Given the description of an element on the screen output the (x, y) to click on. 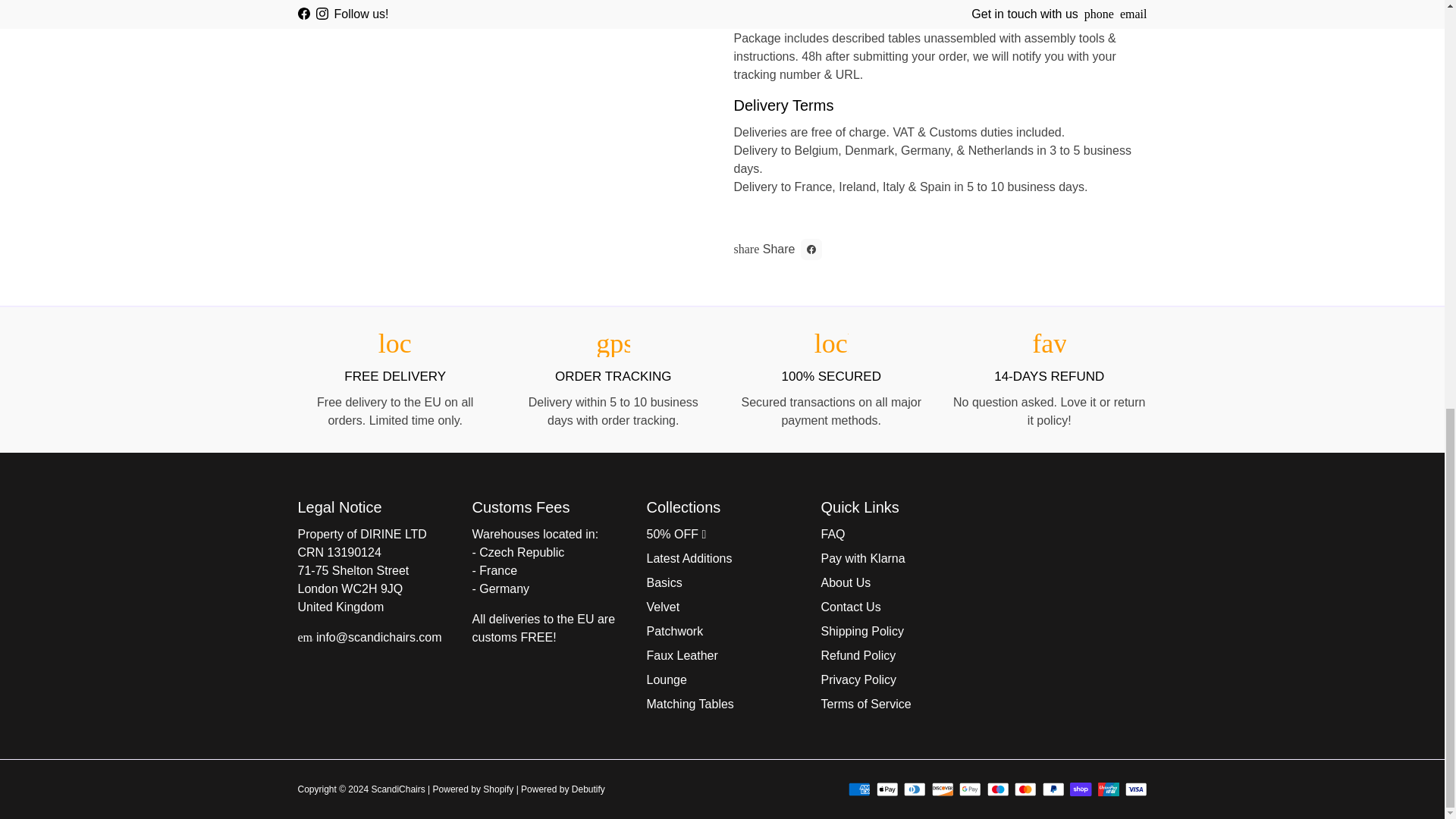
Shop Pay (1081, 789)
PayPal (1052, 789)
Mastercard (1025, 789)
Discover (941, 789)
Diners Club (915, 789)
Visa (1136, 789)
Apple Pay (887, 789)
Union Pay (1108, 789)
Maestro (998, 789)
American Express (859, 789)
